Given the description of an element on the screen output the (x, y) to click on. 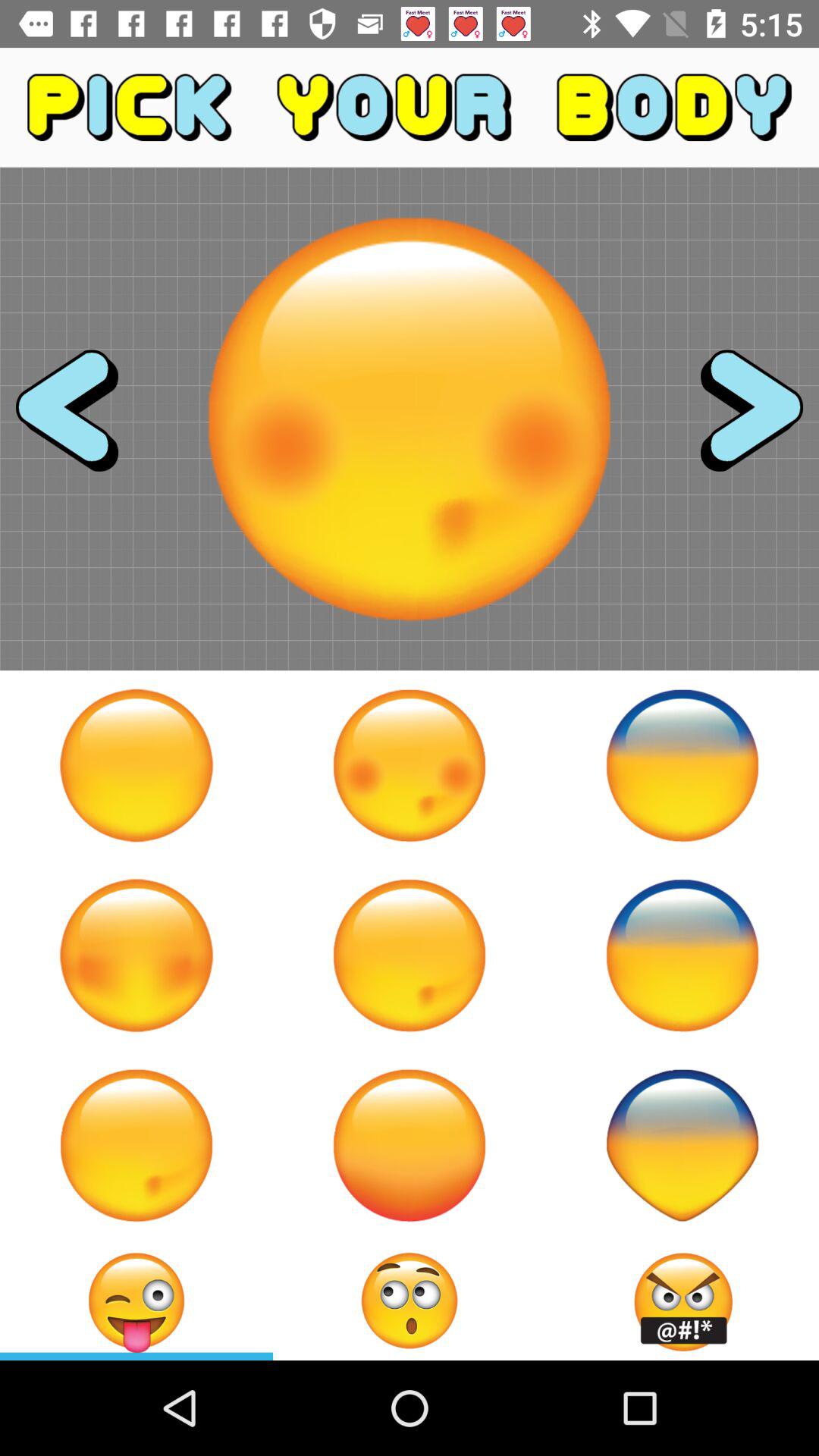
select the image (136, 765)
